Given the description of an element on the screen output the (x, y) to click on. 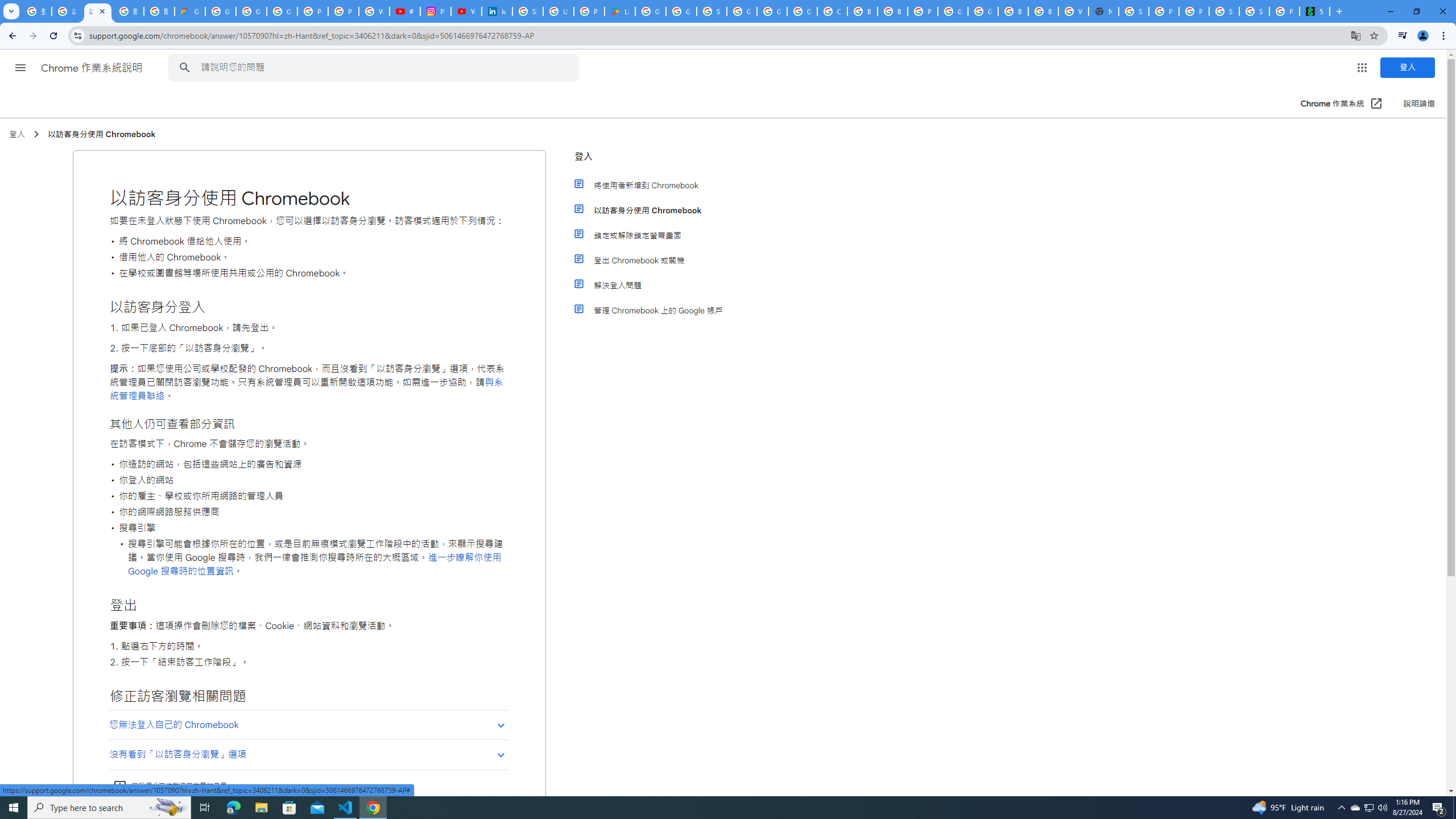
Browse Chrome as a guest - Computer - Google Chrome Help (1012, 11)
Address and search bar (715, 35)
Google Workspace - Specific Terms (681, 11)
View site information (77, 35)
YouTube Culture & Trends - On The Rise: Handcam Videos (465, 11)
